Given the description of an element on the screen output the (x, y) to click on. 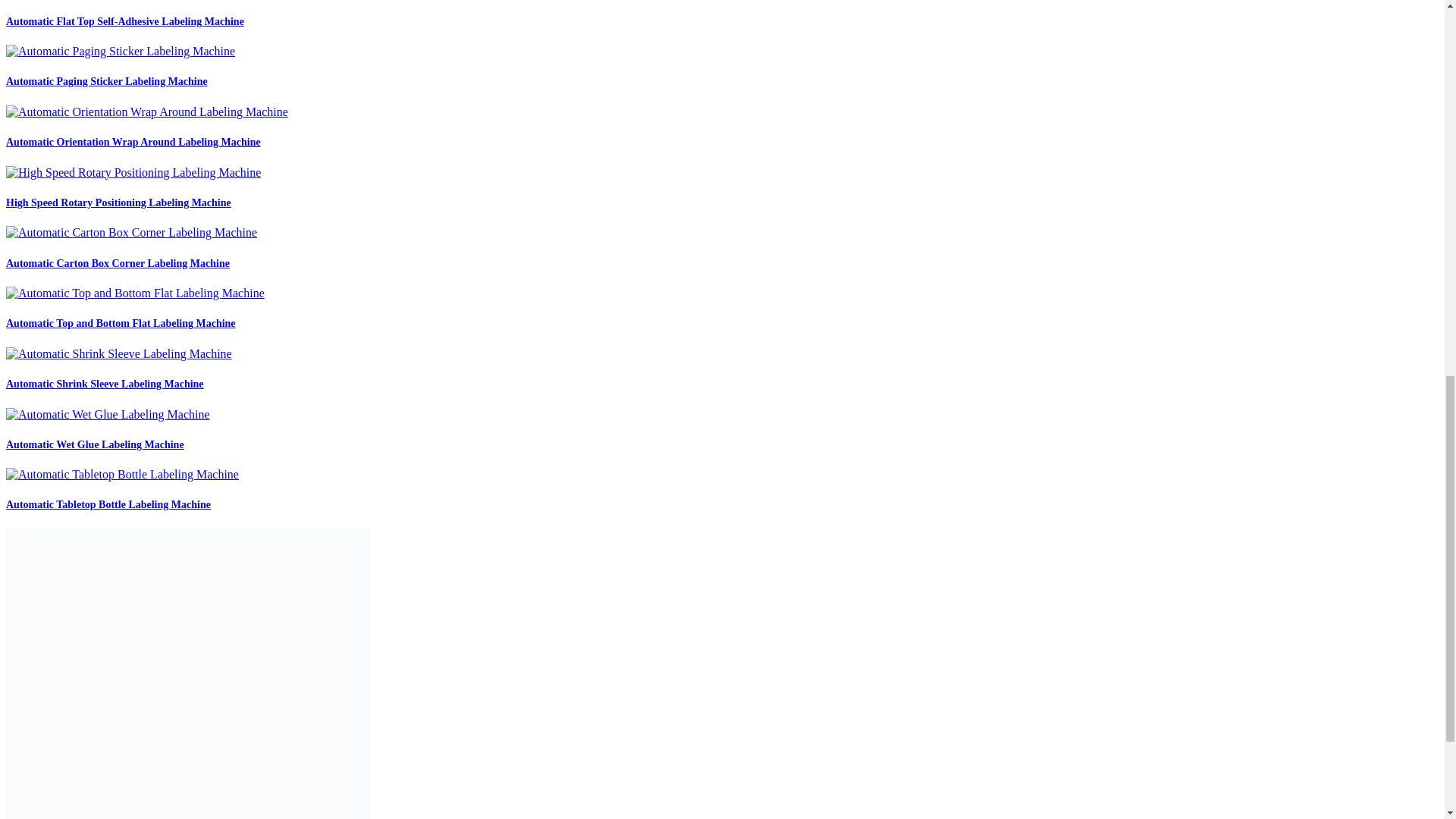
Automatic Orientation Wrap Around Labeling Machine (132, 142)
High Speed Rotary Positioning Labeling Machine (118, 202)
Automatic Paging Sticker Labeling Machine (106, 81)
Automatic Flat Top Self-Adhesive Labeling Machine (124, 21)
Automatic Carton Box Corner Labeling Machine (117, 263)
